Given the description of an element on the screen output the (x, y) to click on. 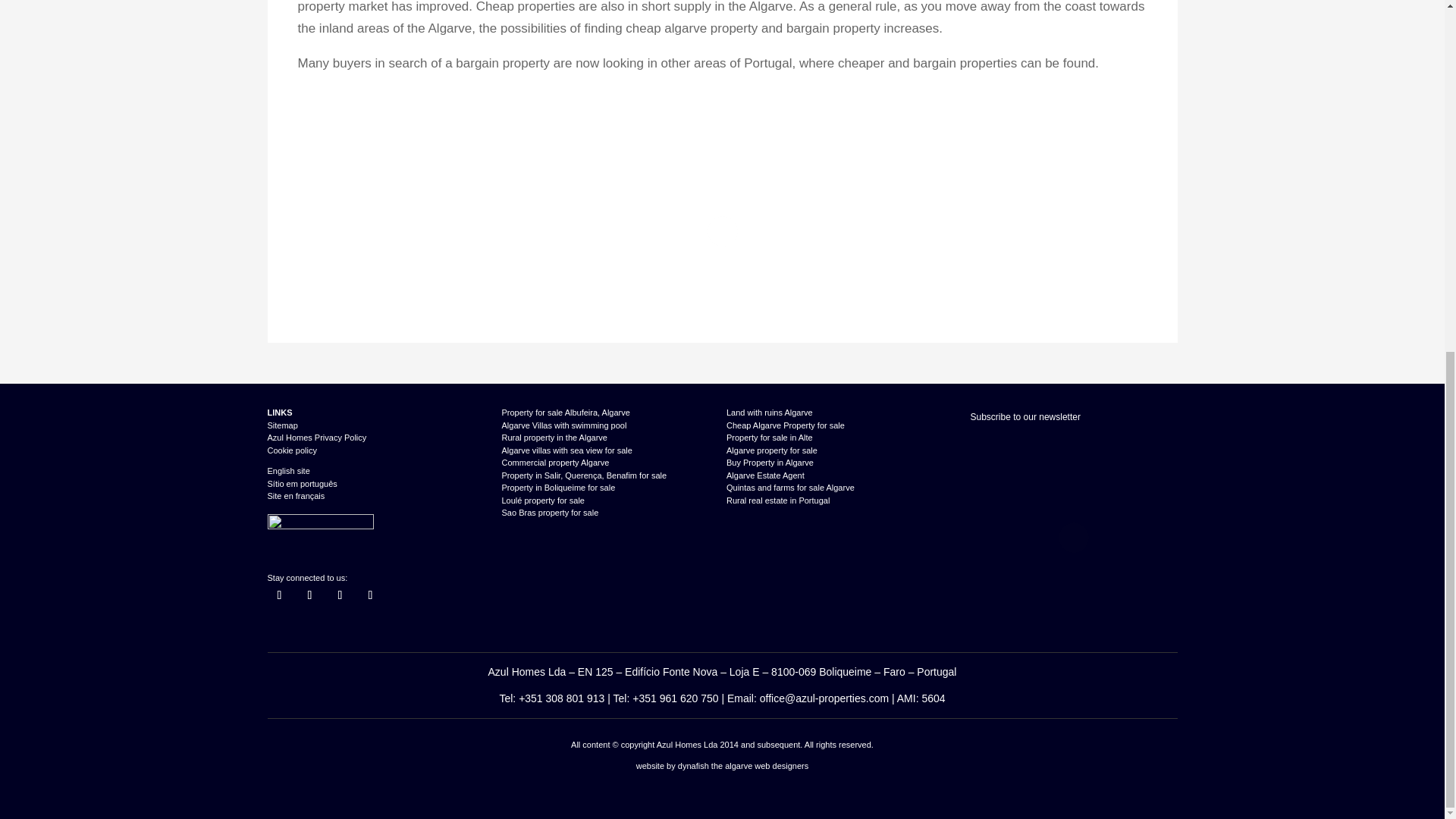
English site (287, 470)
Azul Homes Privacy Policy (316, 437)
Cookie policy (290, 450)
Property for sale Albufeira, Algarve (566, 411)
Sitemap (281, 424)
Follow on Facebook (278, 595)
Follow on LinkedIn (339, 595)
Follow on Youtube (369, 595)
Follow on X (309, 595)
